Given the description of an element on the screen output the (x, y) to click on. 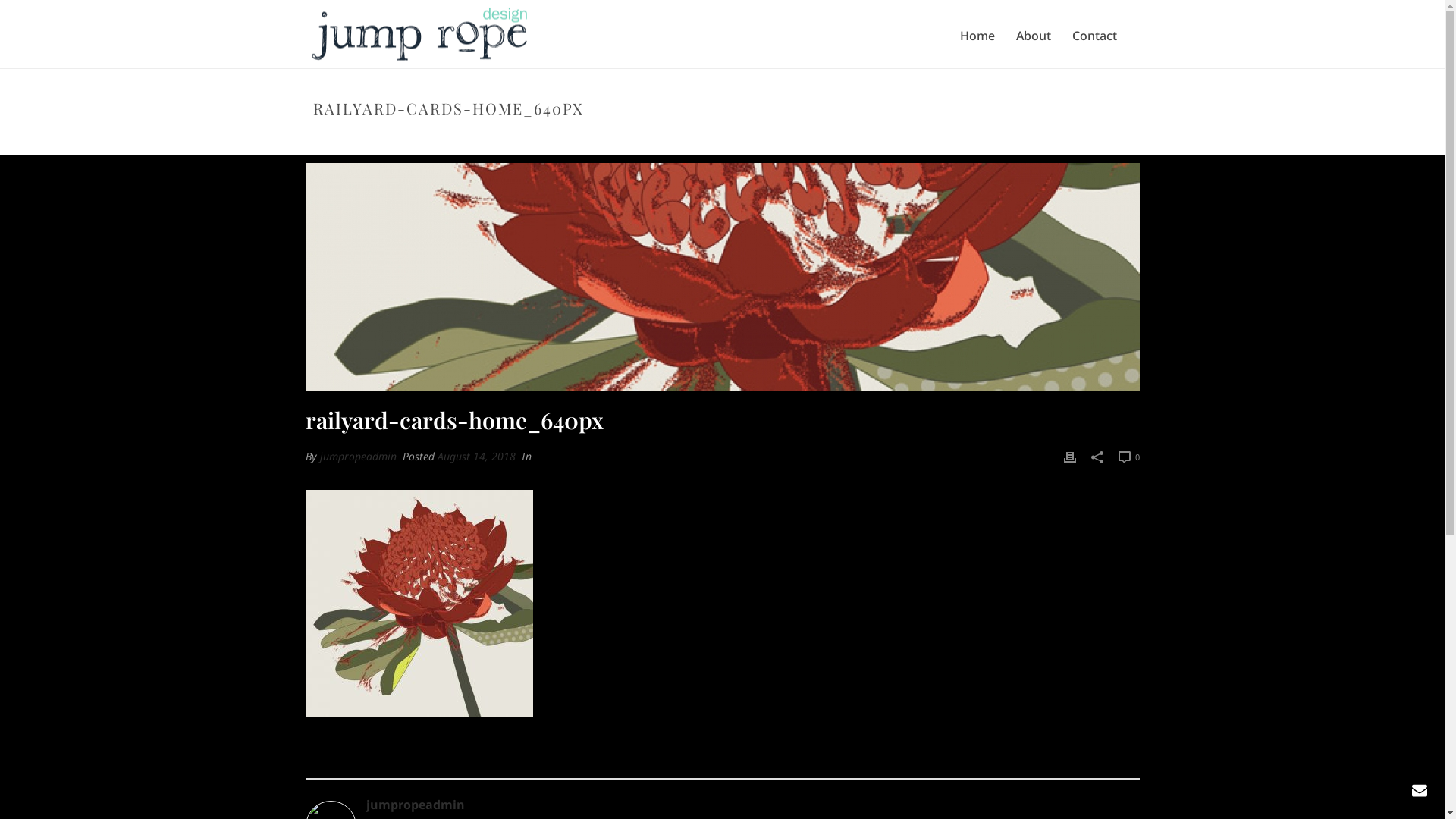
Print Element type: hover (1069, 455)
About Element type: text (1033, 35)
Home Element type: text (977, 35)
jumpropeadmin Element type: text (358, 455)
HOME Element type: text (824, 139)
railyard-cards-home_640px Element type: hover (721, 276)
0 Element type: text (1128, 456)
  Element type: text (721, 276)
jumpropeadmin Element type: text (721, 804)
RAILYARD-CARDS-HOME_640PX Element type: text (915, 139)
August 14, 2018 Element type: text (475, 455)
Contact Element type: text (1094, 35)
Jump Rope Design Element type: hover (418, 34)
